Given the description of an element on the screen output the (x, y) to click on. 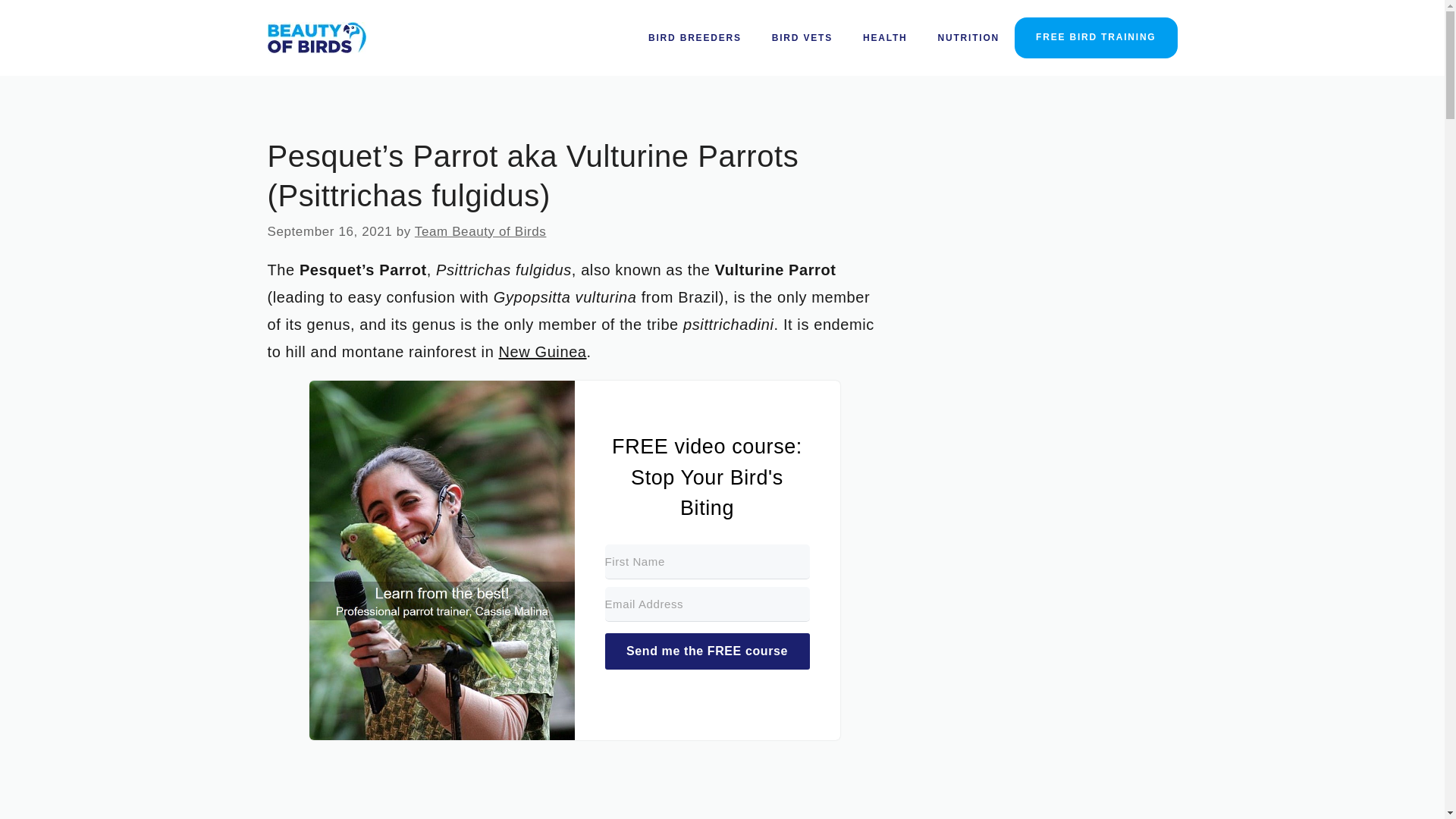
New Guinea (542, 351)
NUTRITION (968, 37)
HEALTH (885, 37)
View all posts by Team Beauty of Birds (480, 231)
BIRD BREEDERS (695, 37)
Send me the FREE course (707, 650)
Team Beauty of Birds (480, 231)
BIRD VETS (802, 37)
FREE BIRD TRAINING (1095, 37)
